Given the description of an element on the screen output the (x, y) to click on. 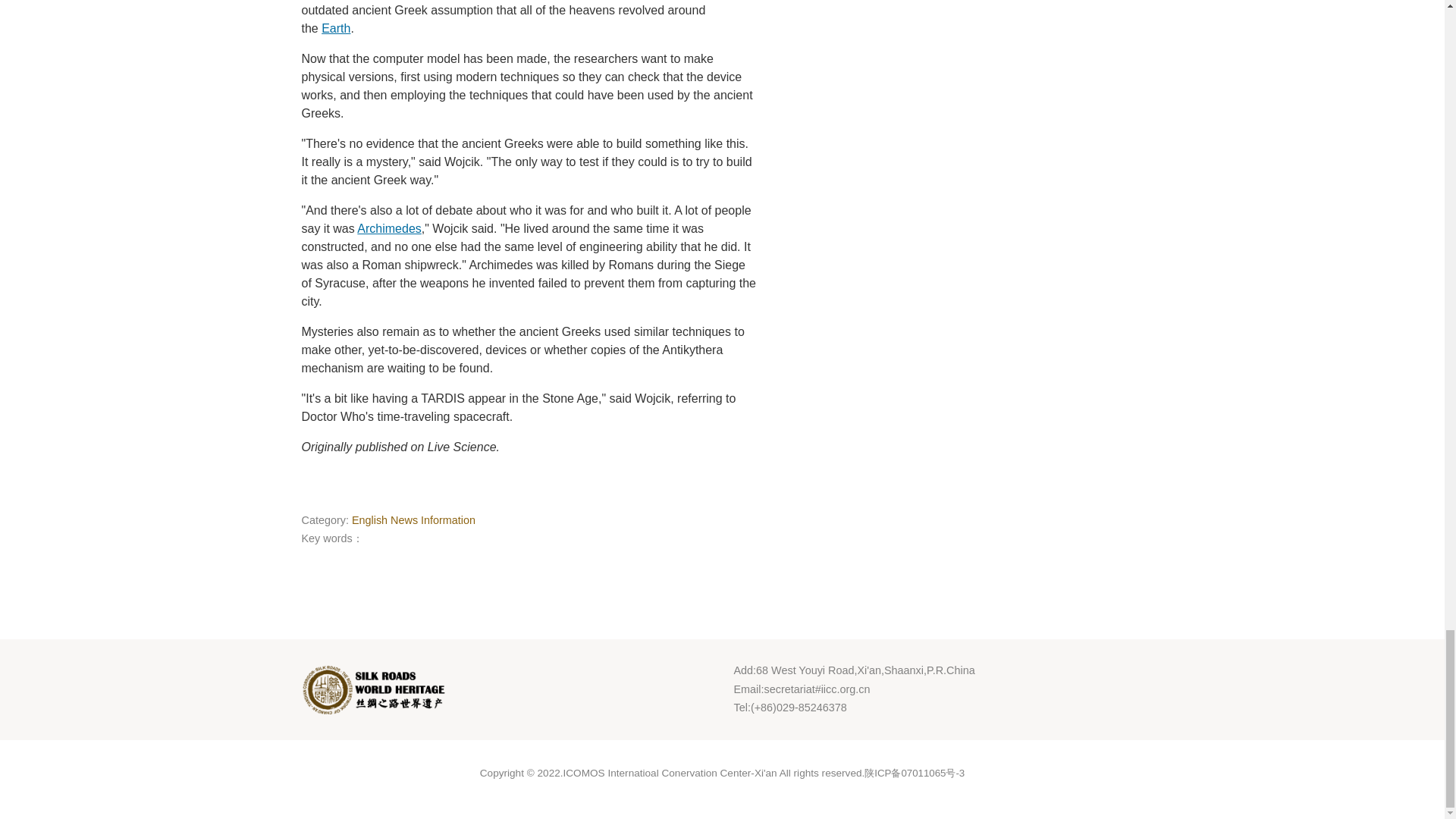
News (403, 520)
Earth (335, 28)
Information (448, 520)
English (369, 520)
Archimedes (388, 228)
